Given the description of an element on the screen output the (x, y) to click on. 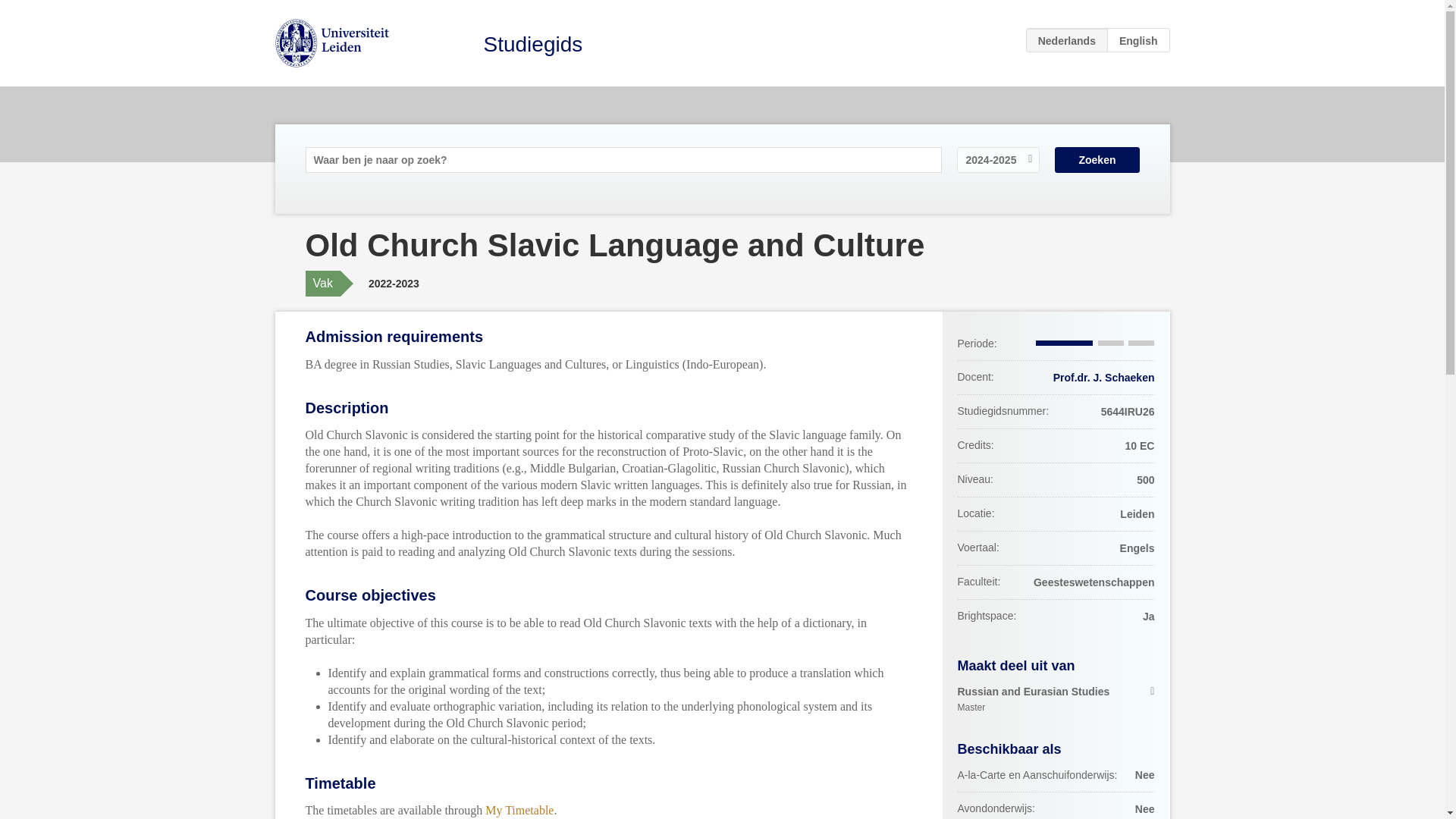
EN (1138, 39)
Zoeken (1096, 159)
Prof.dr. J. Schaeken (1103, 377)
Studiegids (533, 44)
My Timetable (518, 809)
